Given the description of an element on the screen output the (x, y) to click on. 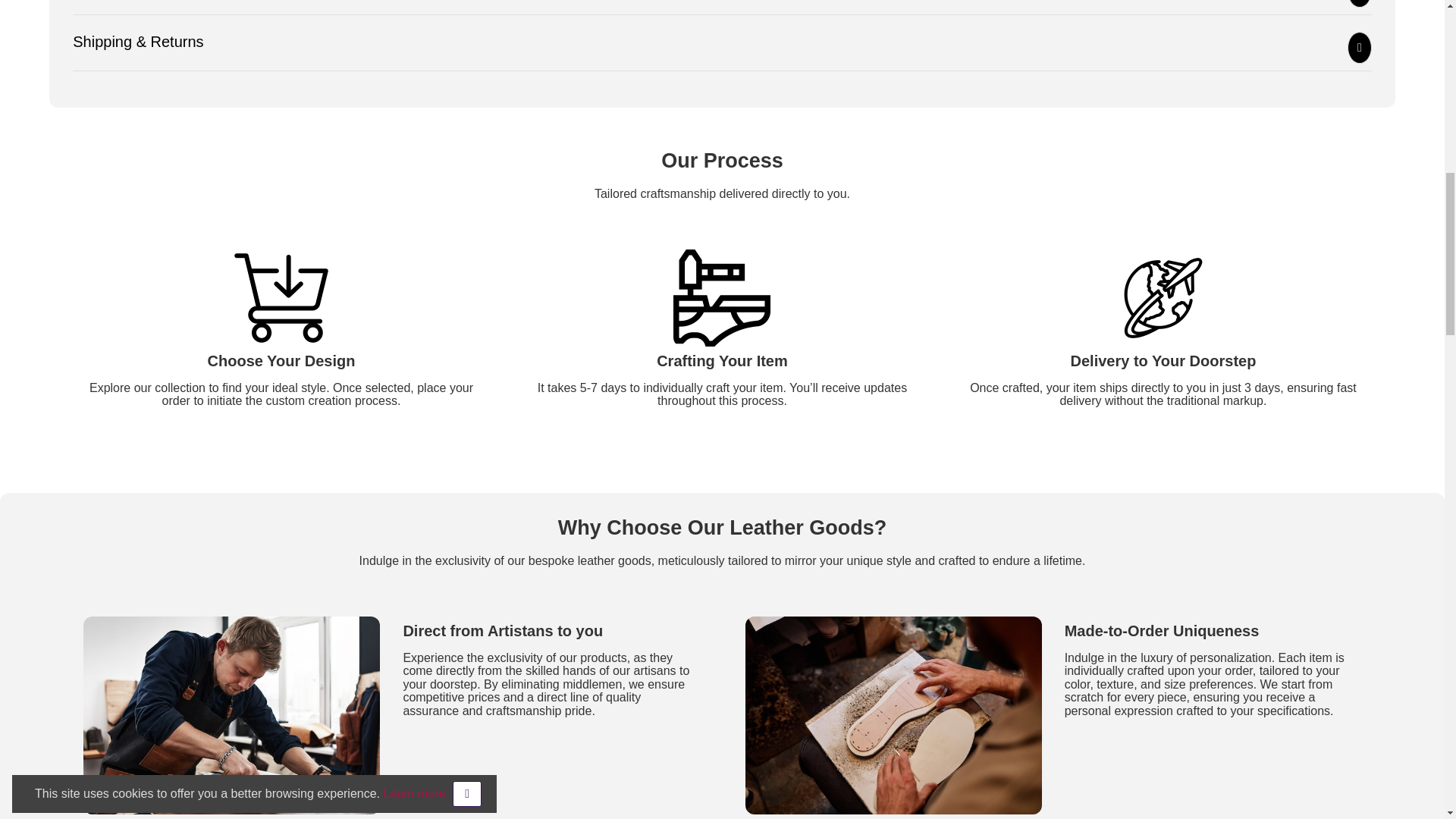
Direct from Artistans to you (231, 715)
Made-to-Order Uniqueness (892, 715)
Choose Your Design (281, 297)
Crafting Your Item (721, 297)
Delivery to Your Doorstep (1163, 297)
